Given the description of an element on the screen output the (x, y) to click on. 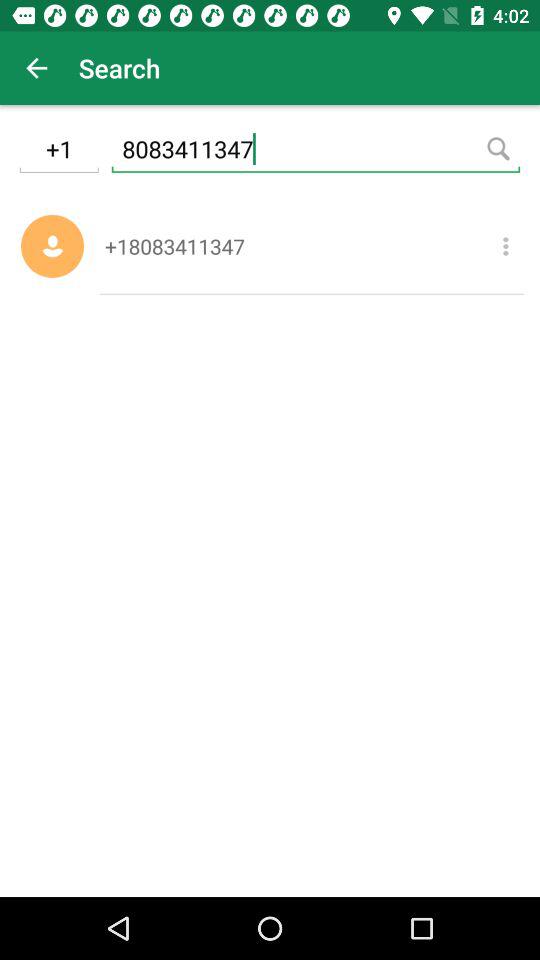
tap +1 item (58, 151)
